Given the description of an element on the screen output the (x, y) to click on. 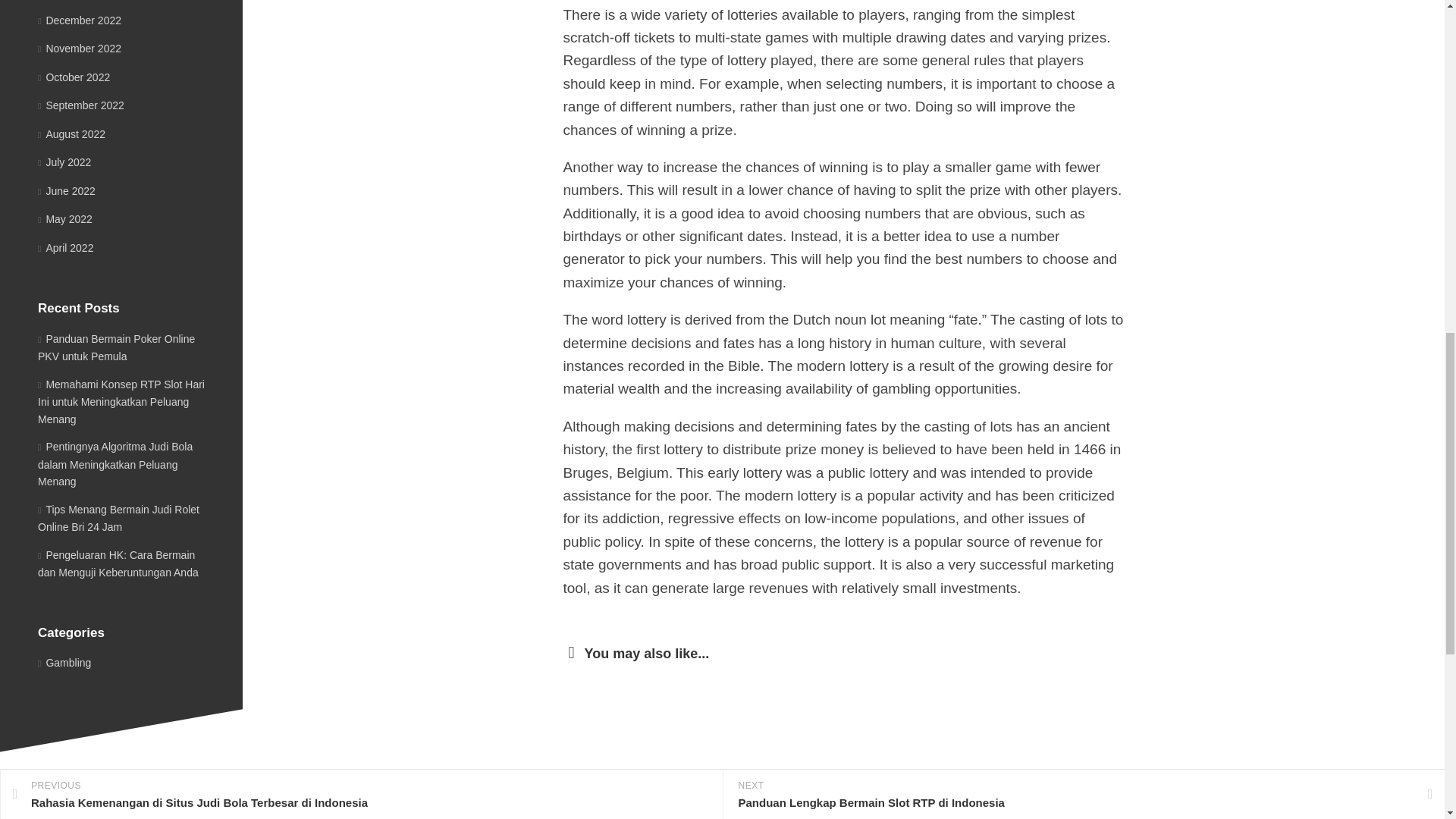
November 2022 (78, 48)
August 2022 (70, 133)
July 2022 (63, 162)
December 2022 (78, 19)
June 2022 (66, 191)
What Is a Slot? (605, 803)
October 2022 (73, 77)
September 2022 (80, 105)
Keuntungan Bermain Slot Demo di Situs Judi Online Terpercaya (1011, 807)
